Given the description of an element on the screen output the (x, y) to click on. 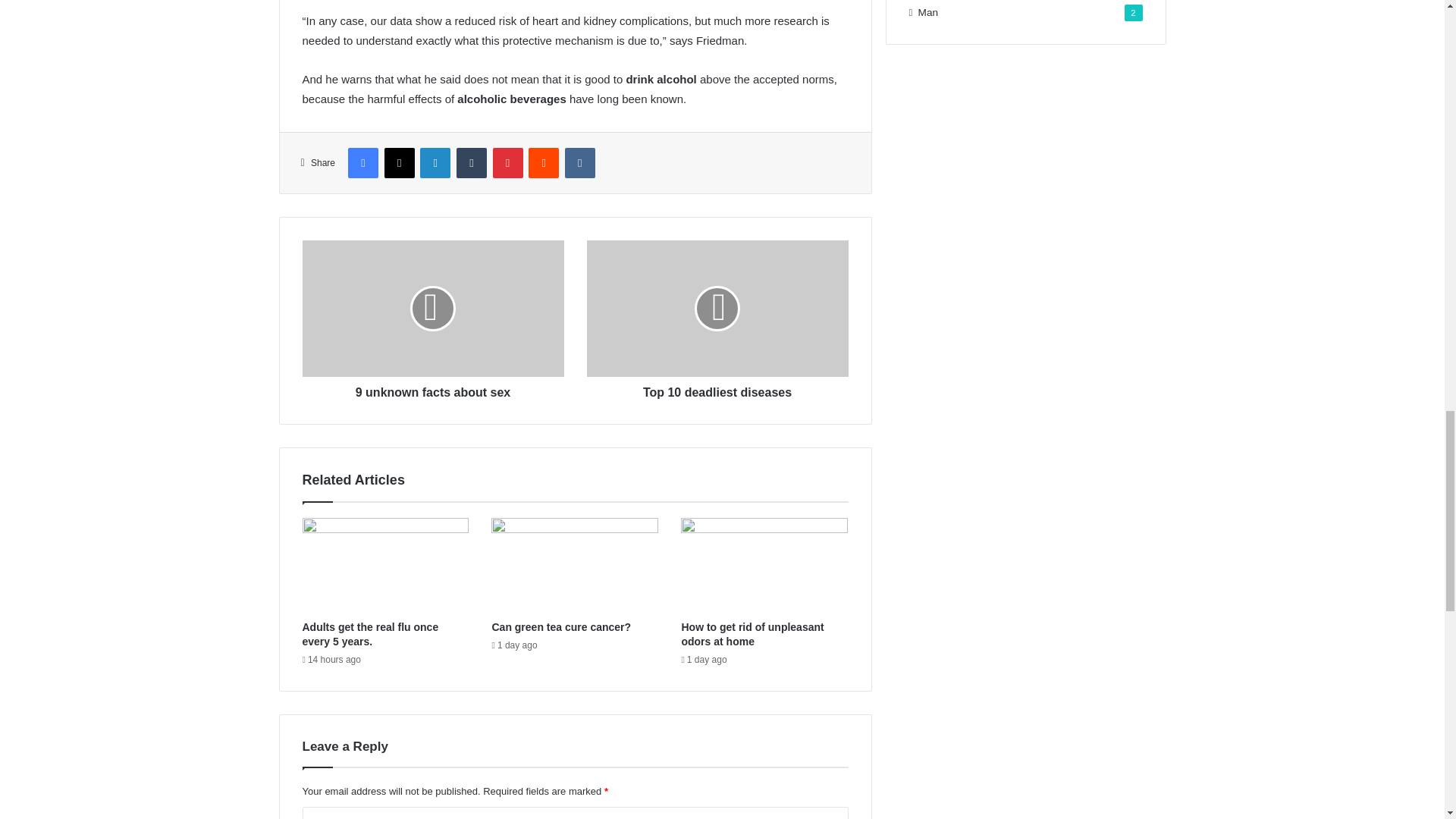
Facebook (362, 163)
Pinterest (507, 163)
Reddit (543, 163)
X (399, 163)
Facebook (362, 163)
X (399, 163)
Tumblr (471, 163)
LinkedIn (434, 163)
